Given the description of an element on the screen output the (x, y) to click on. 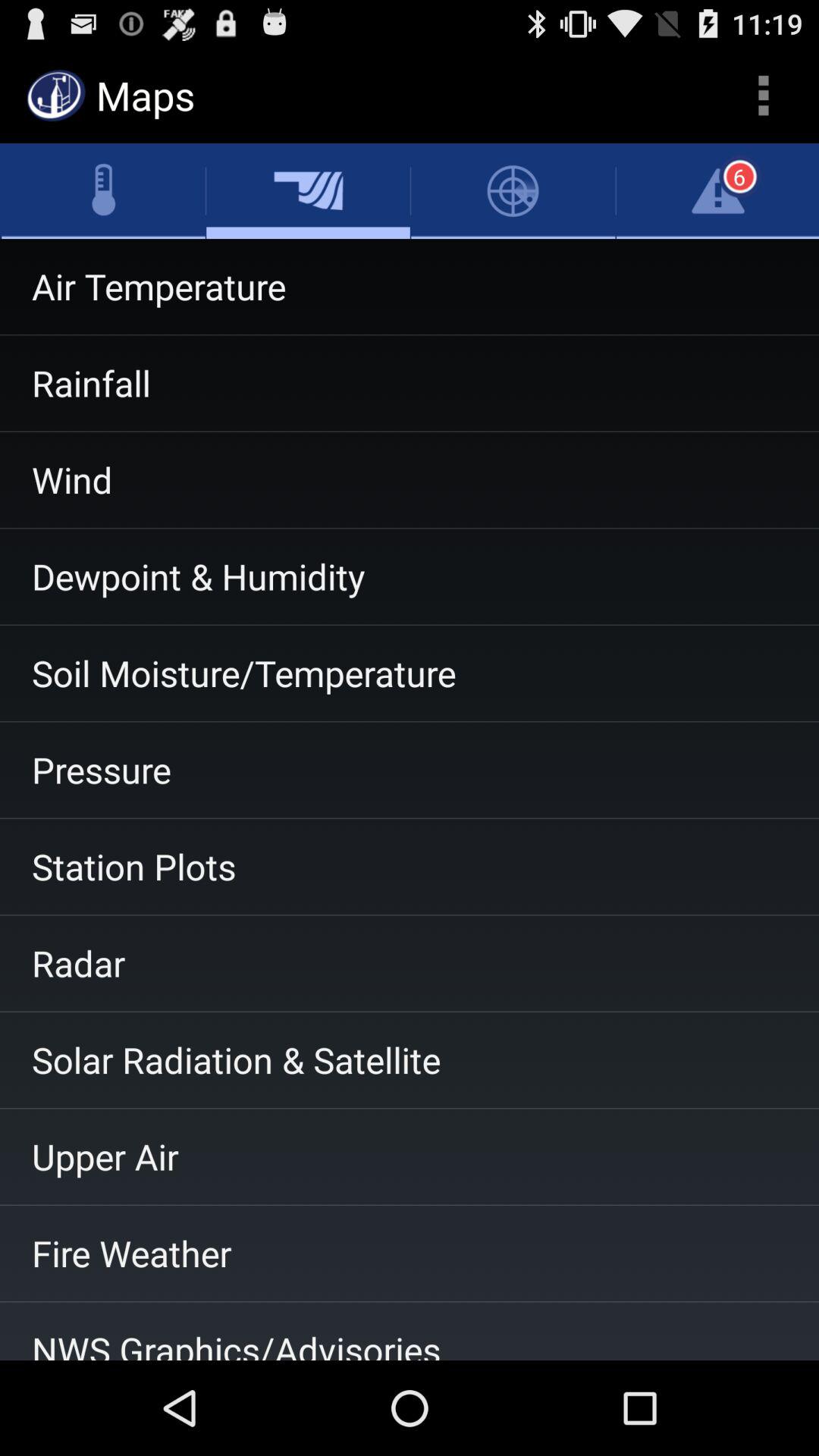
click air temperature icon (409, 286)
